Given the description of an element on the screen output the (x, y) to click on. 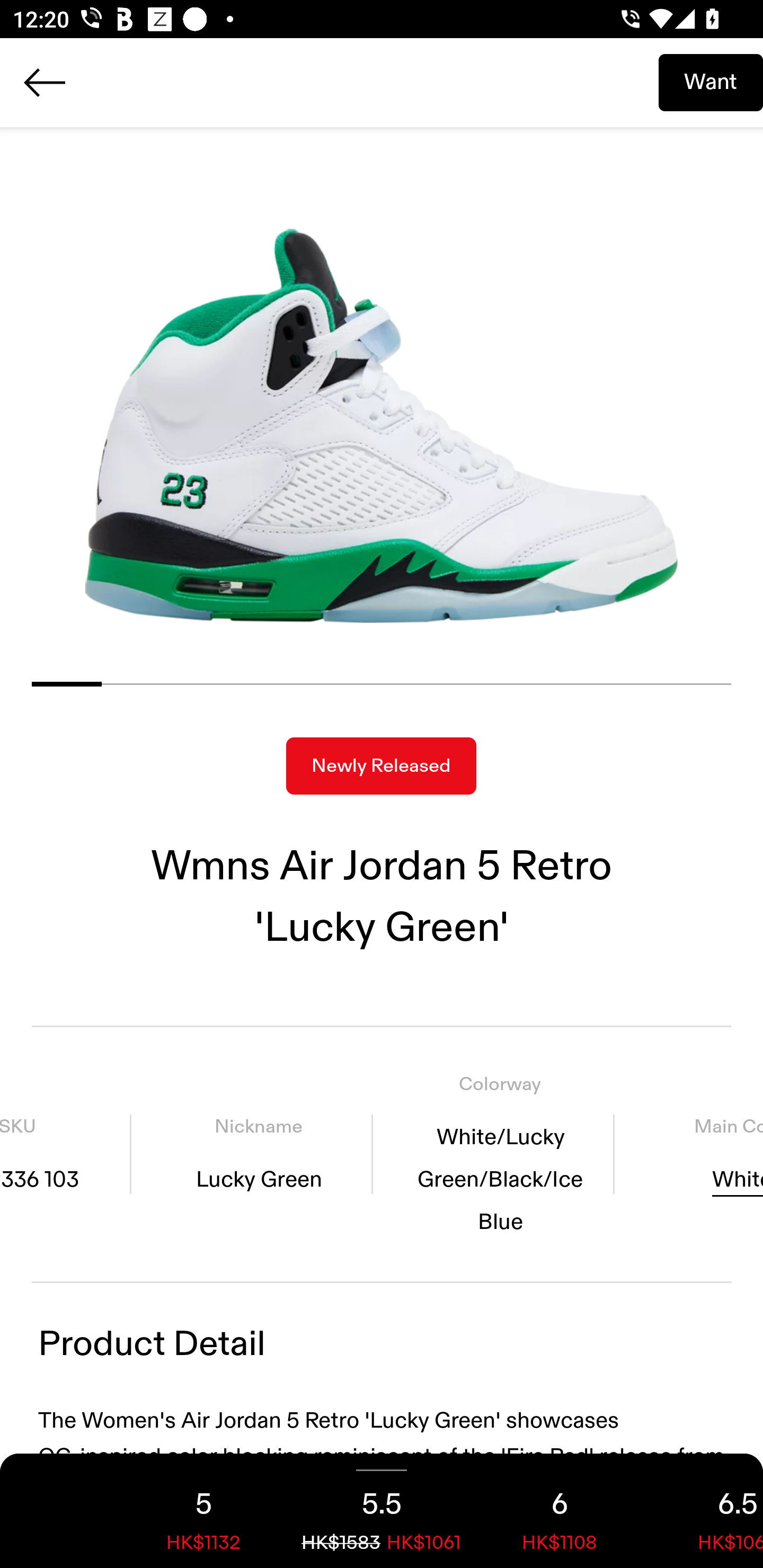
Want (710, 82)
Newly Released (381, 765)
Nickname Lucky Green (258, 1153)
Colorway White/Lucky Green/Black/Ice Blue (500, 1153)
5 HK$1132 (203, 1510)
5.5 HK$1583 HK$1061 (381, 1510)
6 HK$1108 (559, 1510)
6.5 HK$1068 (705, 1510)
